Given the description of an element on the screen output the (x, y) to click on. 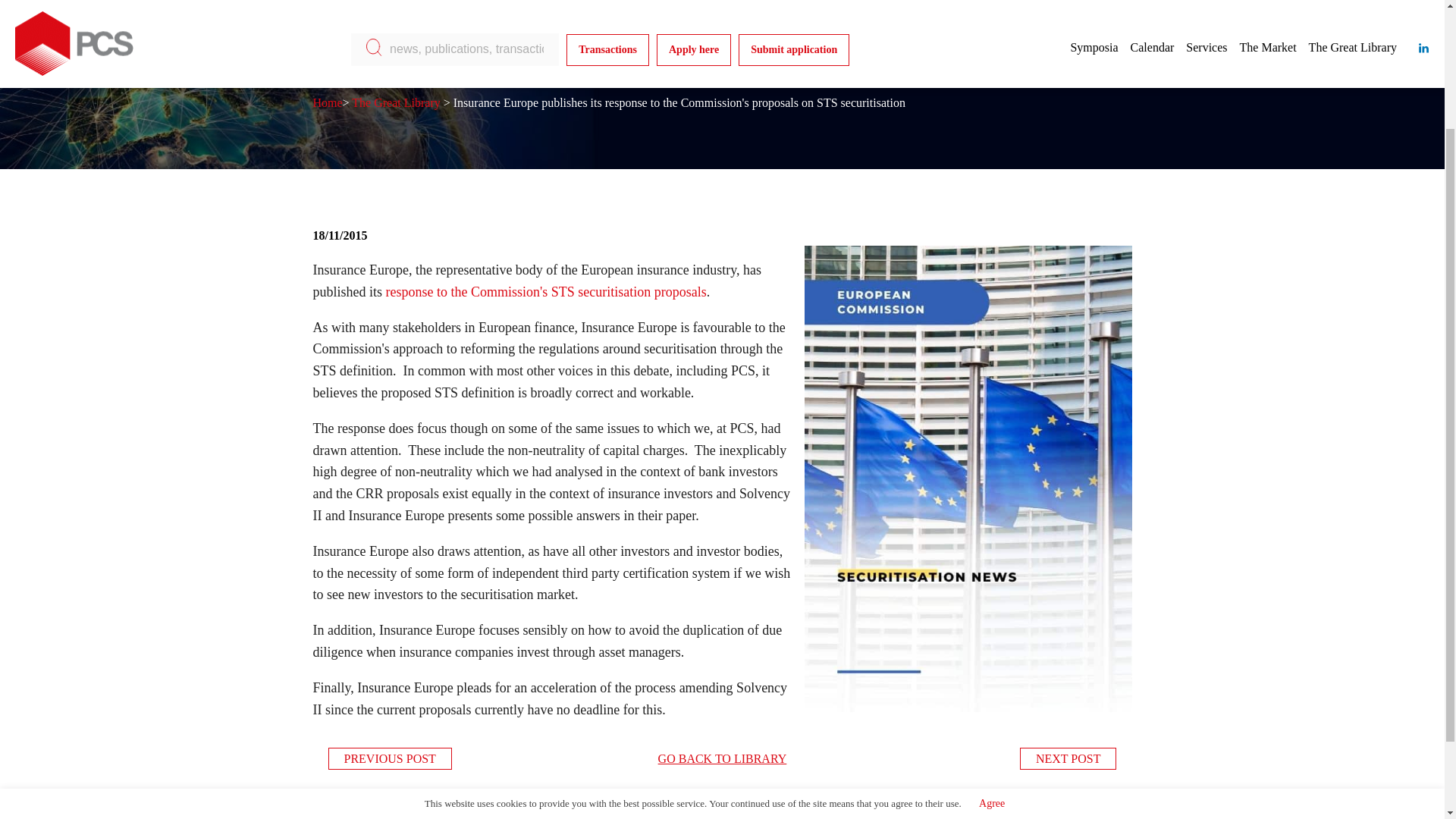
Agree (992, 645)
PREVIOUS POST (390, 758)
GO BACK TO LIBRARY (722, 759)
Home (327, 102)
NEXT POST (1068, 758)
response to the Commission's STS securitisation proposals (545, 291)
The Great Library (395, 102)
